Given the description of an element on the screen output the (x, y) to click on. 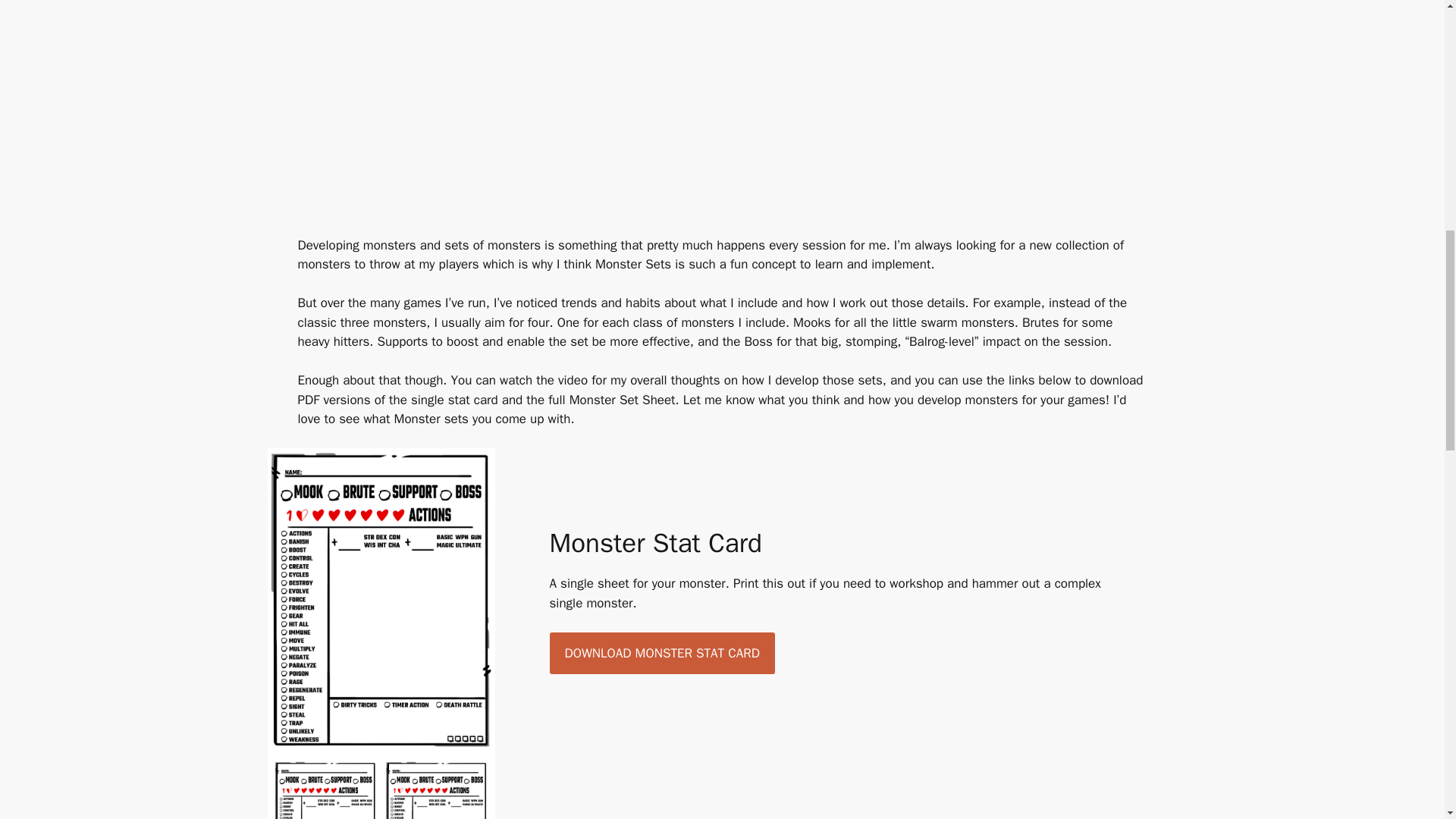
DOWNLOAD MONSTER STAT CARD (661, 653)
